Given the description of an element on the screen output the (x, y) to click on. 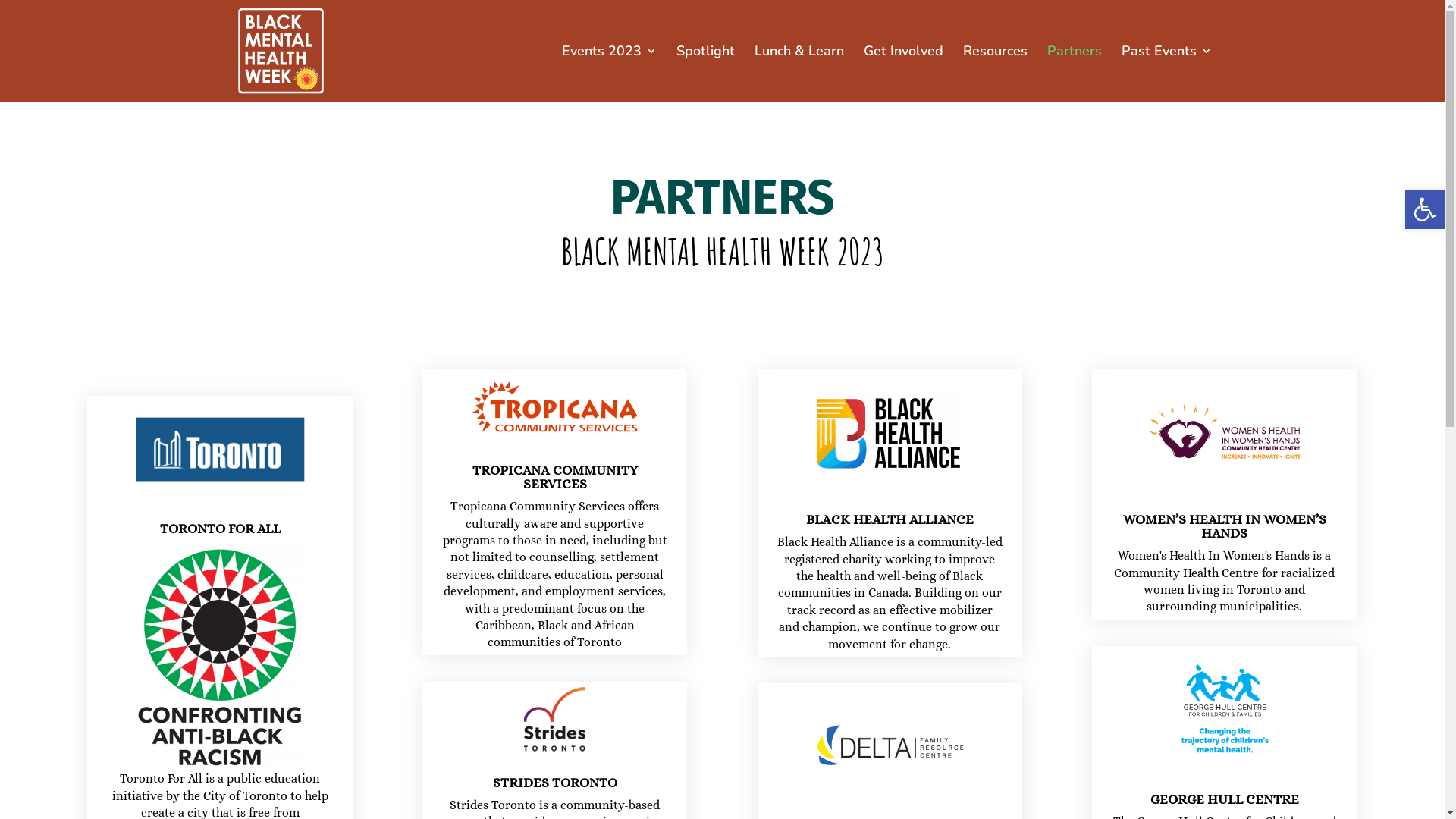
Open toolbar
Accessibility Tools Element type: text (1424, 209)
Resources Element type: text (995, 73)
Spotlight Element type: text (705, 73)
Past Events Element type: text (1165, 73)
Partners Element type: text (1073, 73)
Events 2023 Element type: text (608, 73)
Lunch & Learn Element type: text (798, 73)
Get Involved Element type: text (902, 73)
